Given the description of an element on the screen output the (x, y) to click on. 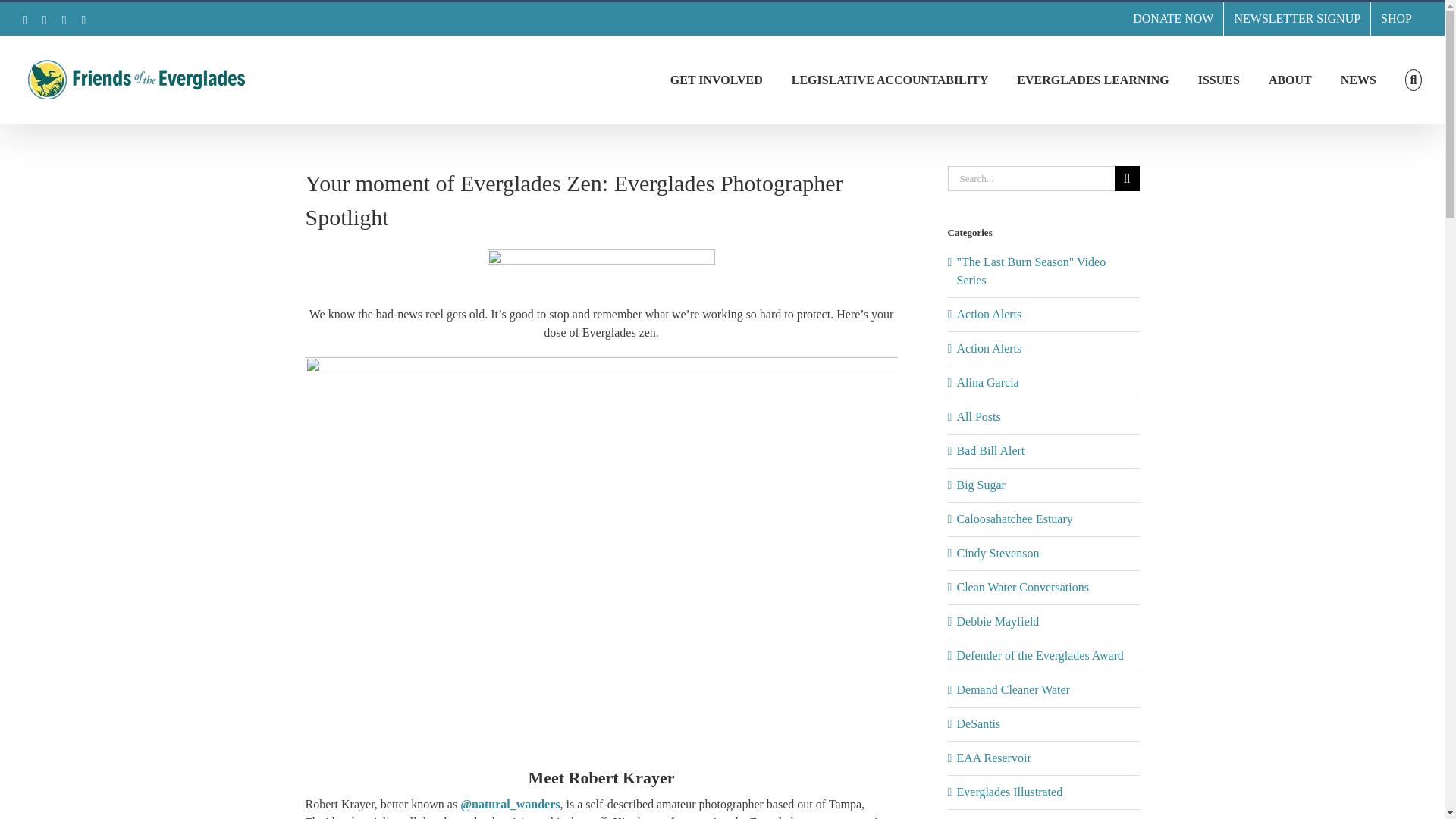
DONATE NOW (1172, 19)
EVERGLADES LEARNING (1092, 79)
SHOP (1396, 19)
LEGISLATIVE ACCOUNTABILITY (890, 79)
NEWSLETTER SIGNUP (1297, 19)
GET INVOLVED (715, 79)
